Given the description of an element on the screen output the (x, y) to click on. 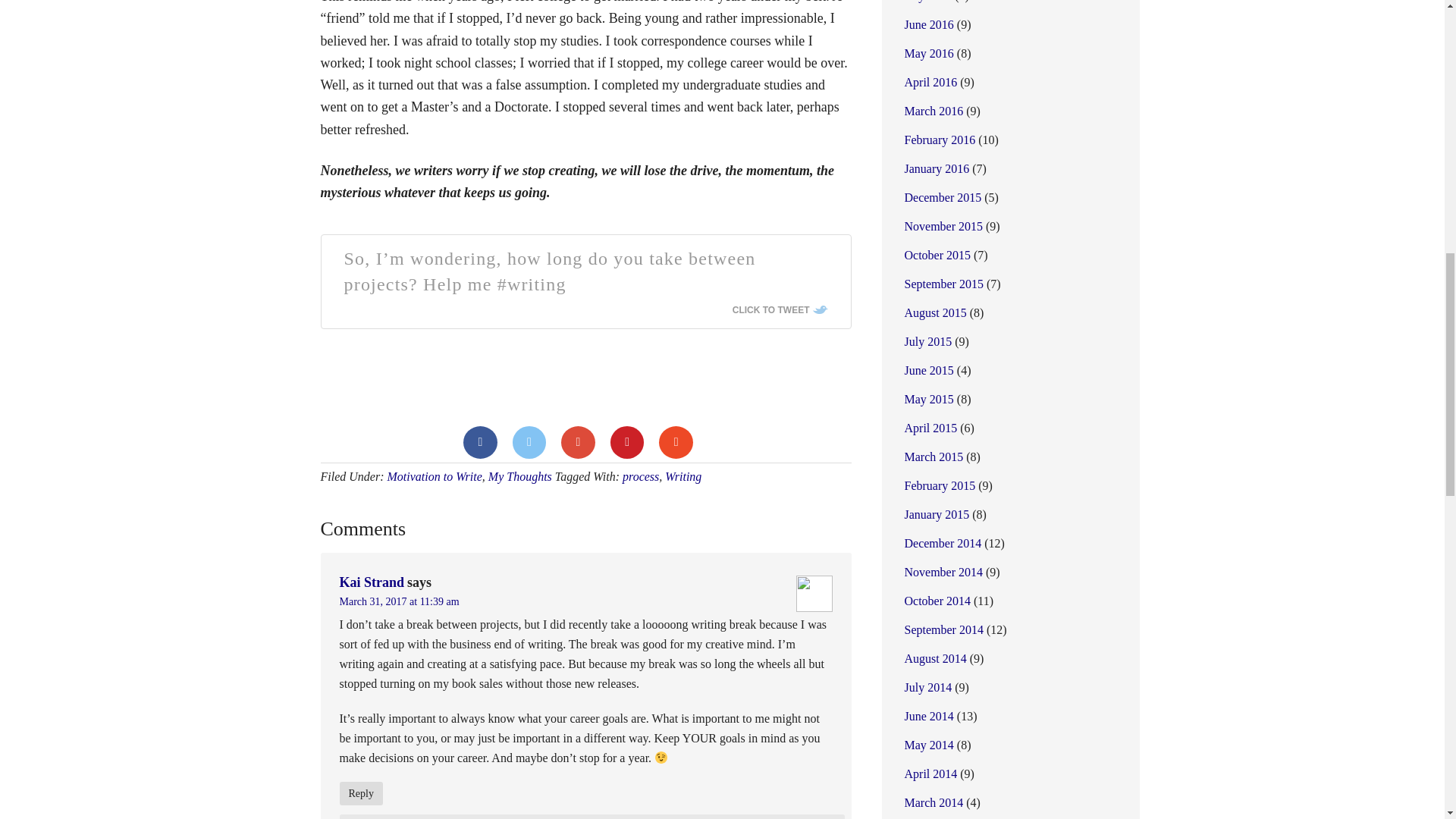
Kai Strand (371, 581)
Twitter (529, 441)
process (641, 476)
Pinterest (627, 441)
Writing (683, 476)
CLICK TO TWEET (780, 309)
March 31, 2017 at 11:39 am (399, 601)
Facebook (480, 441)
Motivation to Write (434, 476)
My Thoughts (519, 476)
Mail (676, 441)
Reply (360, 793)
